Given the description of an element on the screen output the (x, y) to click on. 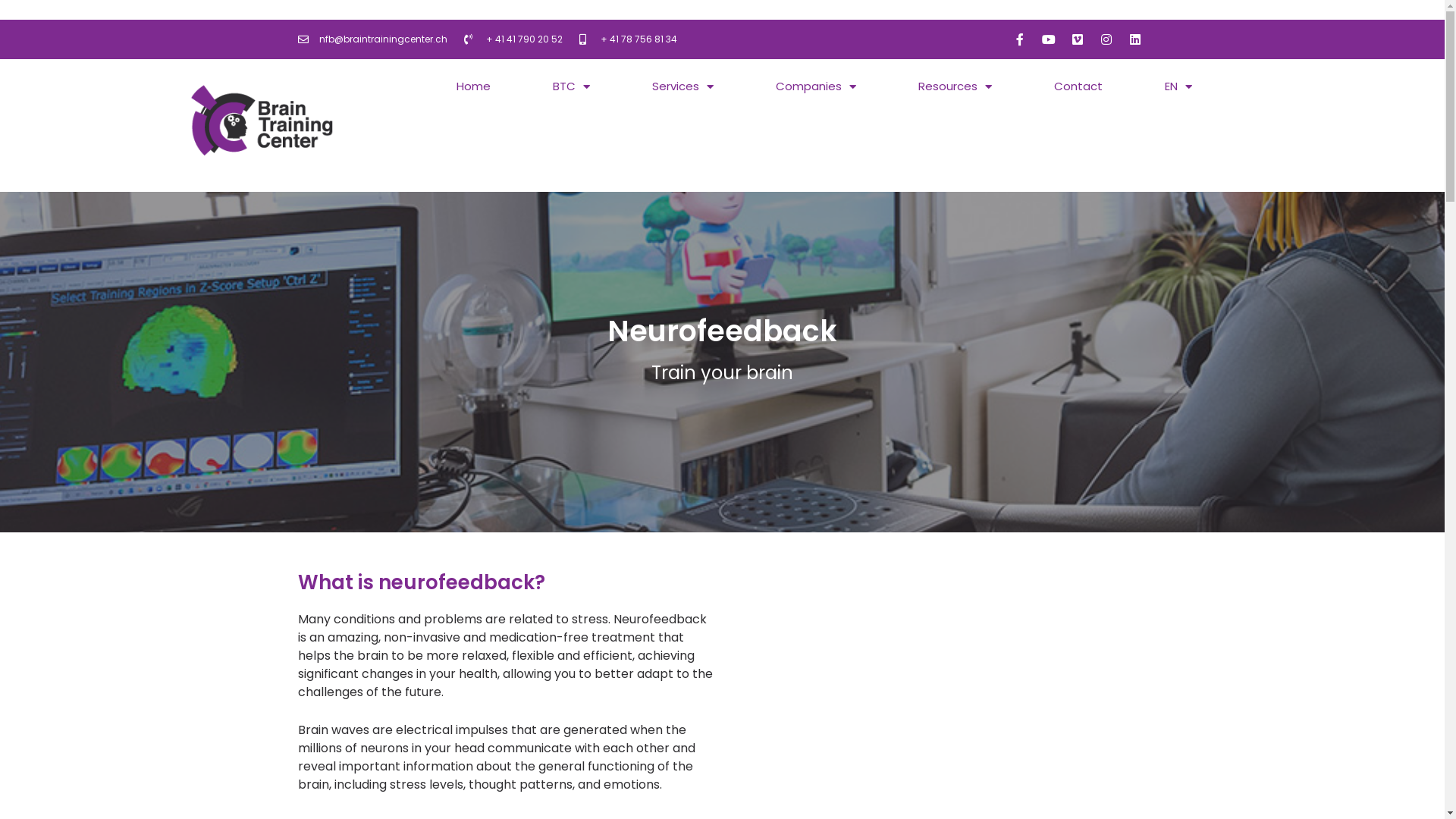
Companies Element type: text (815, 86)
Services Element type: text (682, 86)
Contact Element type: text (1077, 86)
EN Element type: text (1178, 86)
Resources Element type: text (954, 86)
BTC Element type: text (571, 86)
Home Element type: text (473, 86)
